Given the description of an element on the screen output the (x, y) to click on. 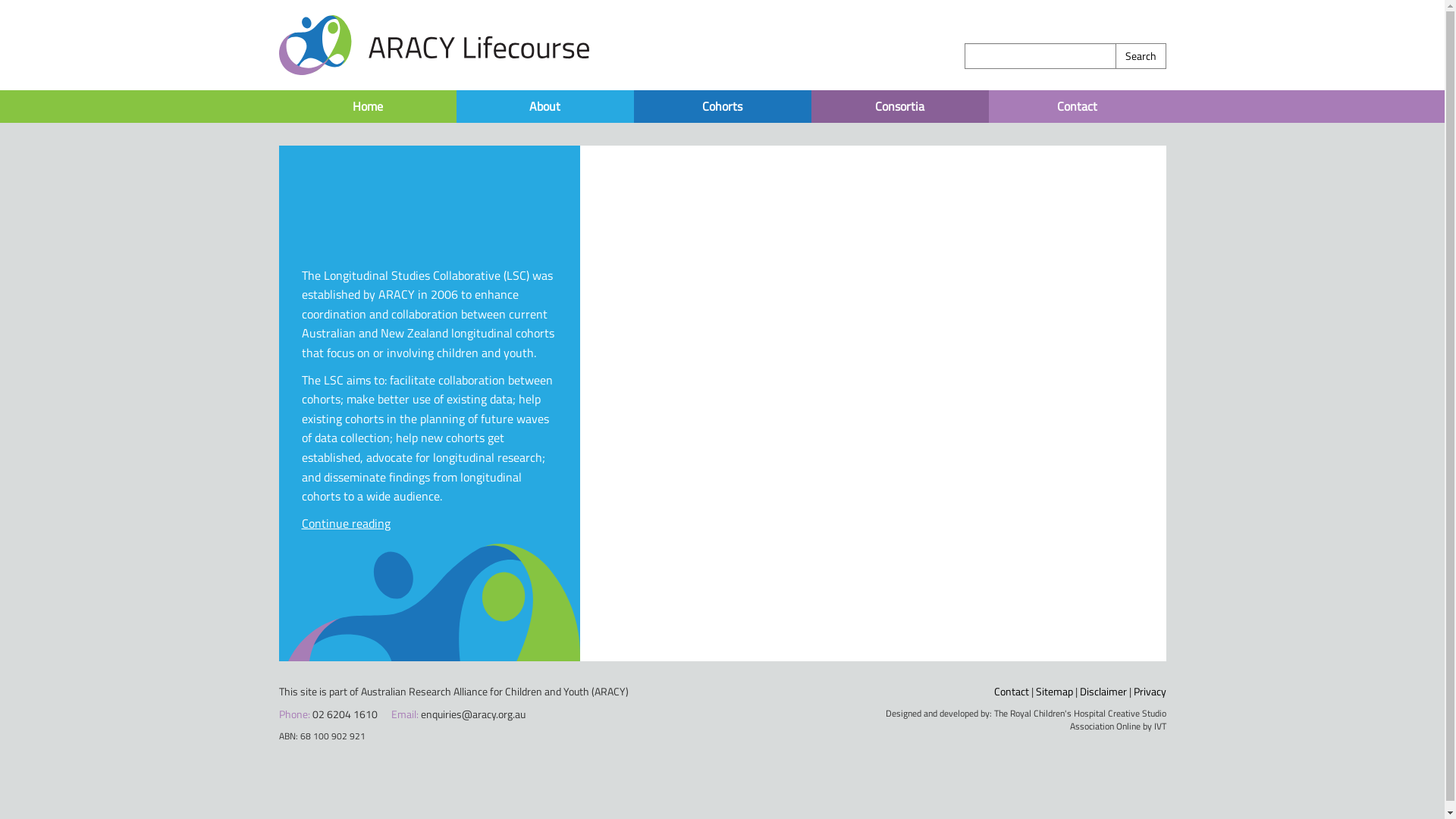
About Element type: text (544, 106)
Cohorts Element type: text (722, 106)
Home Element type: text (367, 106)
Contact Element type: text (1010, 691)
Continue reading Element type: text (345, 523)
Privacy Element type: text (1148, 691)
Disclaimer Element type: text (1102, 691)
ARACY Lifecourse Element type: hover (434, 43)
Contact Element type: text (1077, 106)
Sitemap Element type: text (1054, 691)
Consortia Element type: text (899, 106)
Search Element type: text (1139, 56)
